Given the description of an element on the screen output the (x, y) to click on. 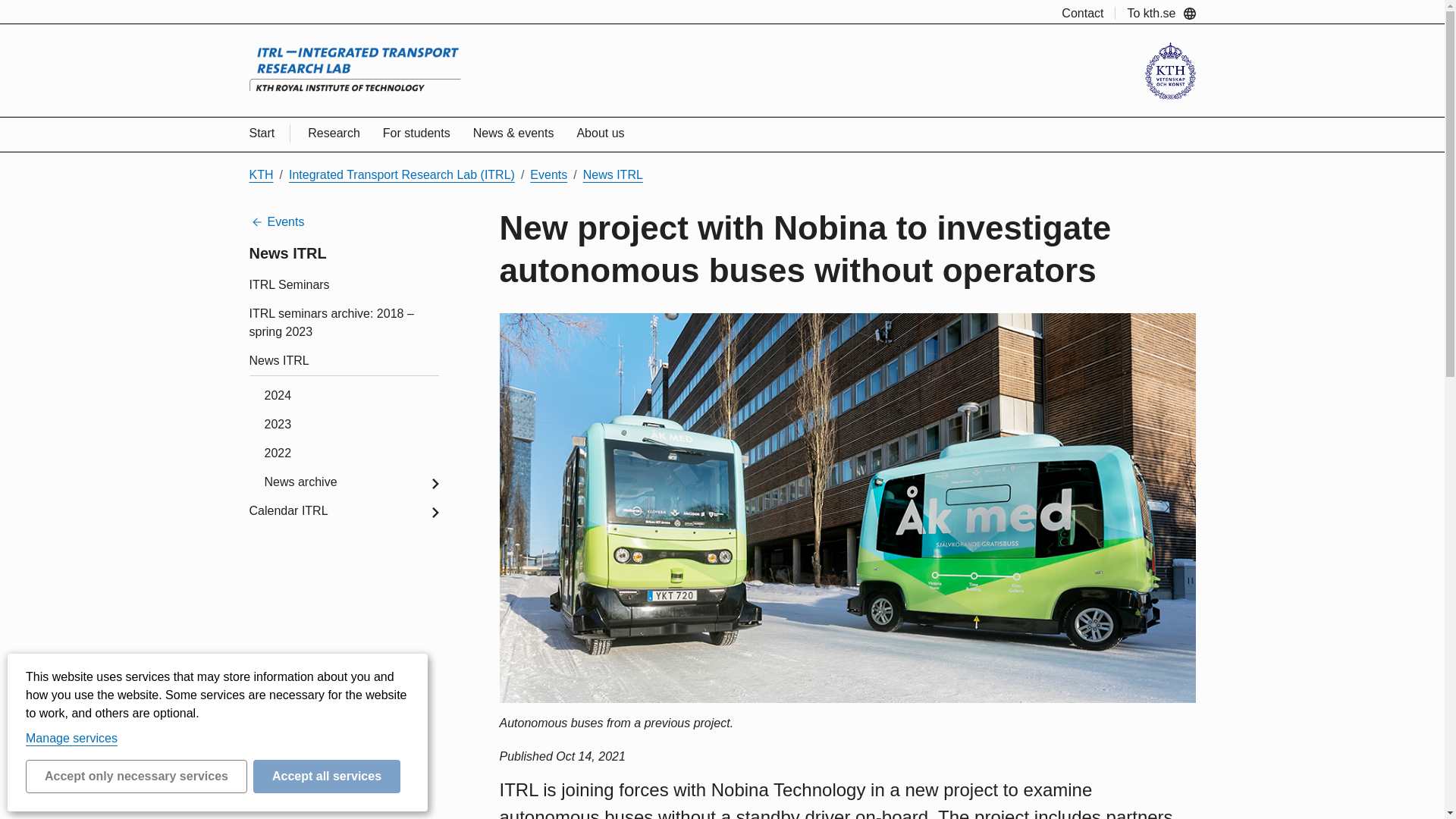
KTH (260, 174)
Calendar ITRL (343, 510)
News ITRL (613, 174)
To kth.se (1160, 12)
2023 (350, 423)
2022 (350, 452)
News archive (350, 481)
Research (333, 132)
Events (548, 174)
About us (599, 132)
